Given the description of an element on the screen output the (x, y) to click on. 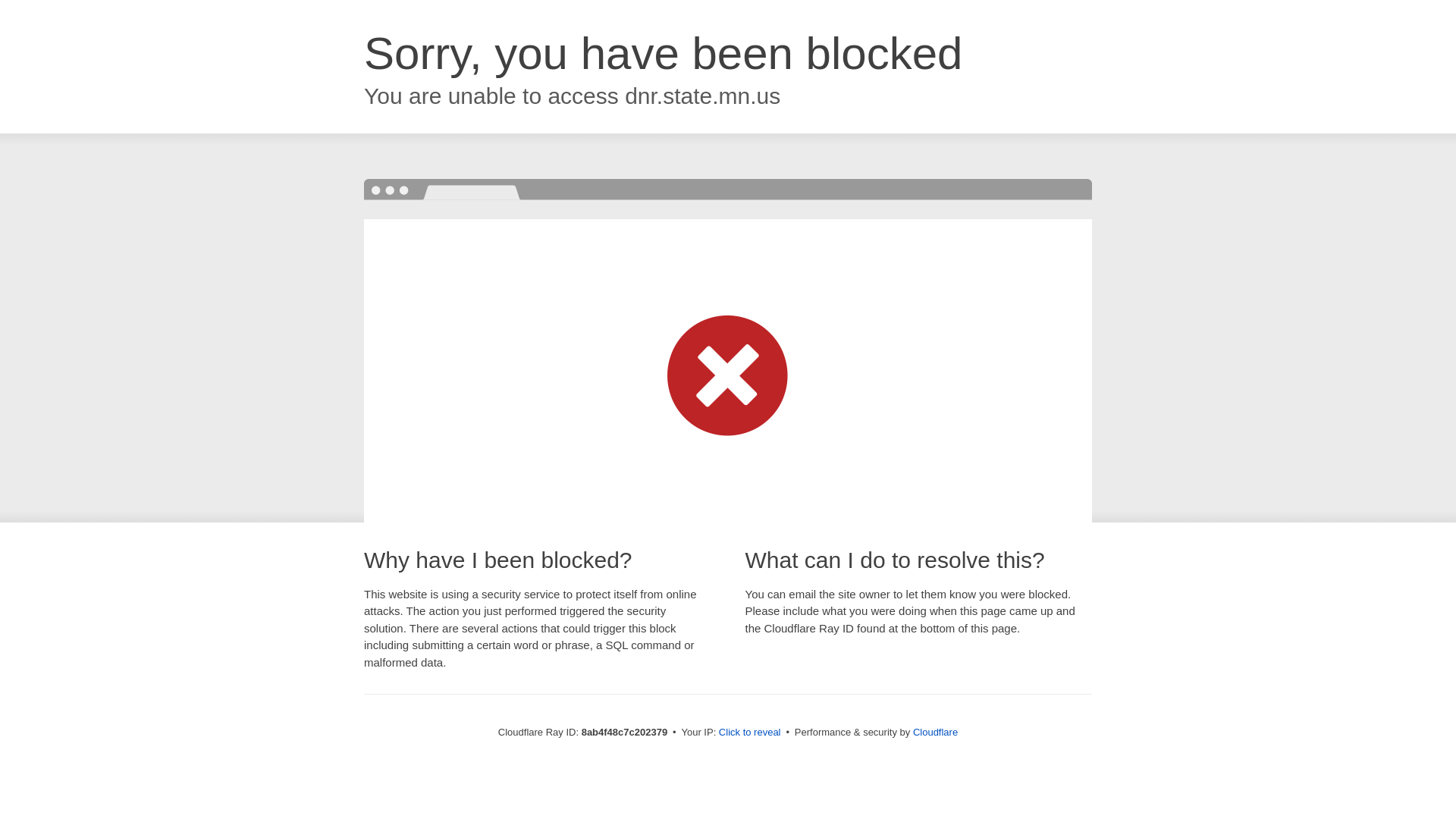
Cloudflare (935, 731)
Click to reveal (749, 732)
